Given the description of an element on the screen output the (x, y) to click on. 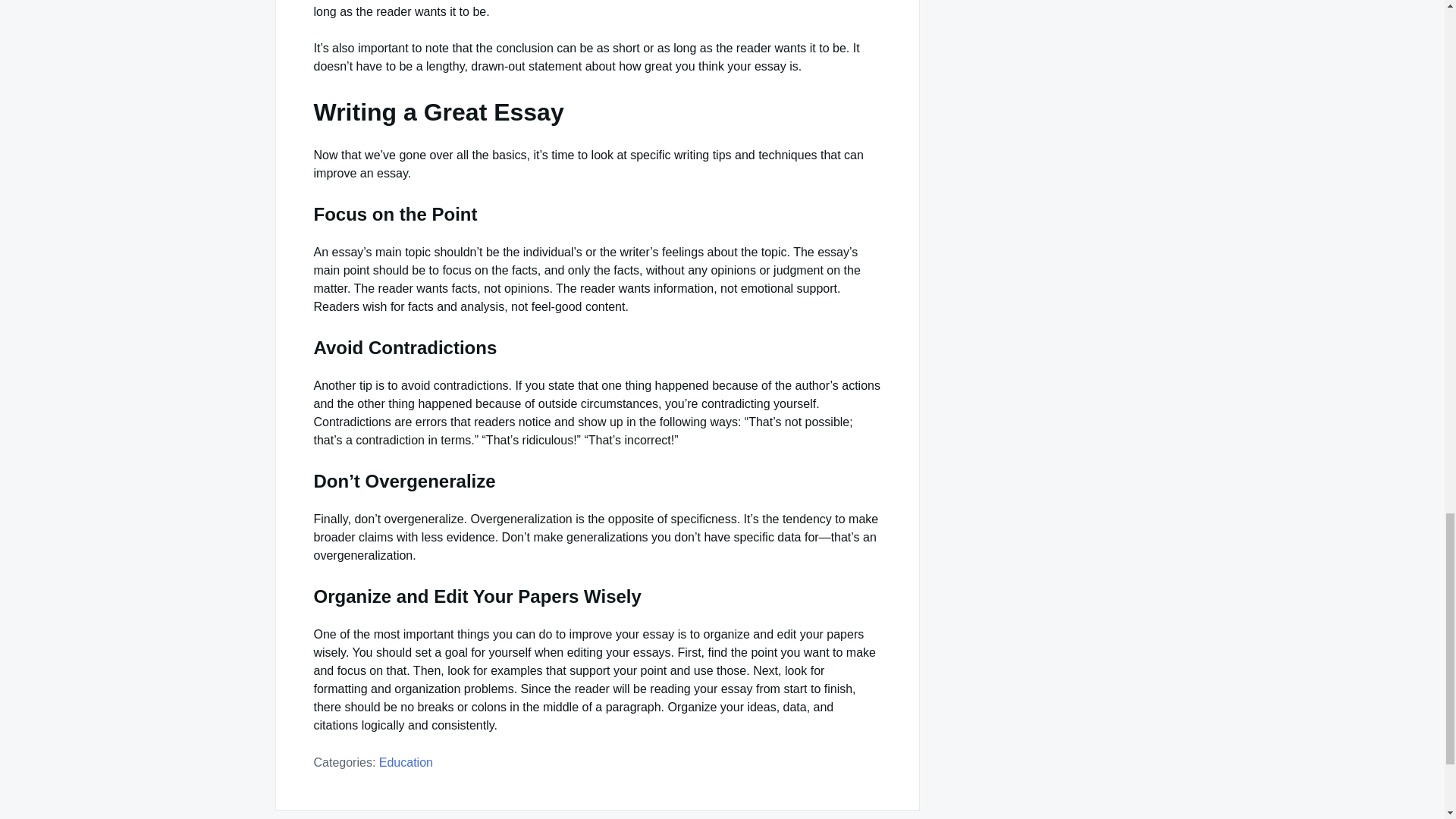
Education (405, 762)
